Given the description of an element on the screen output the (x, y) to click on. 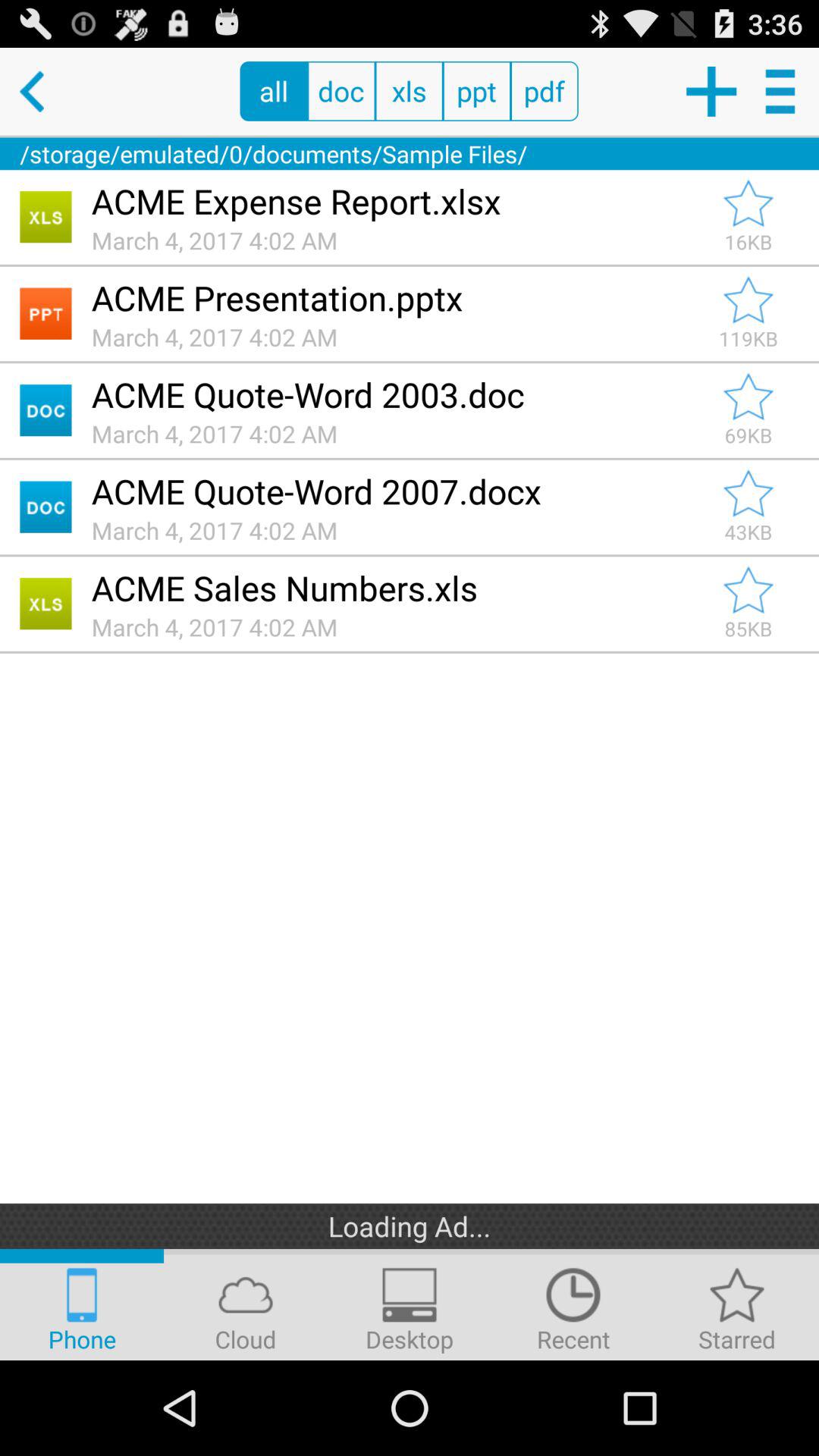
launch the icon to the right of xls radio button (476, 91)
